Given the description of an element on the screen output the (x, y) to click on. 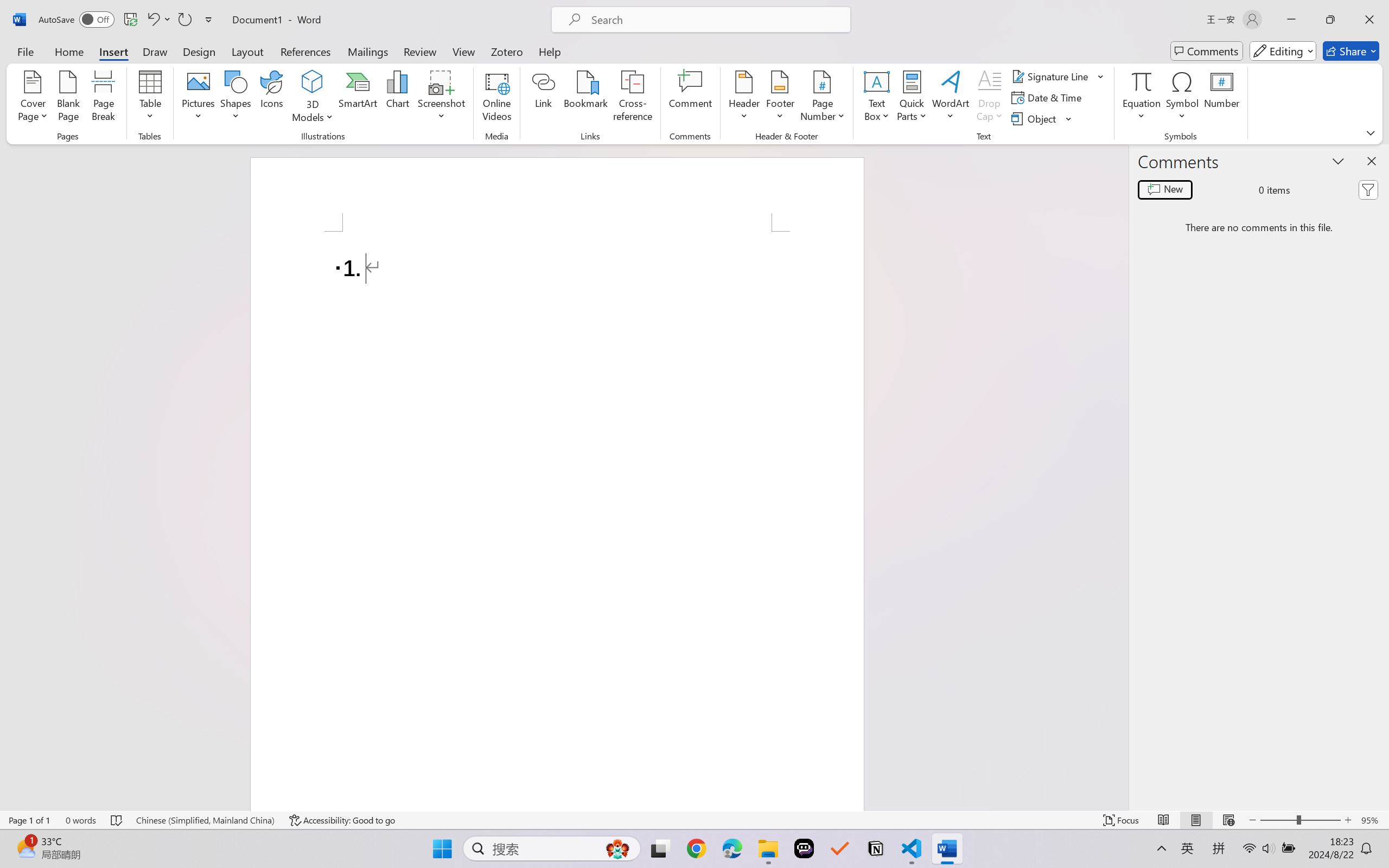
Undo Number Default (152, 19)
Repeat Doc Close (184, 19)
Page Break (103, 97)
Footer (780, 97)
Symbol (1181, 97)
